Given the description of an element on the screen output the (x, y) to click on. 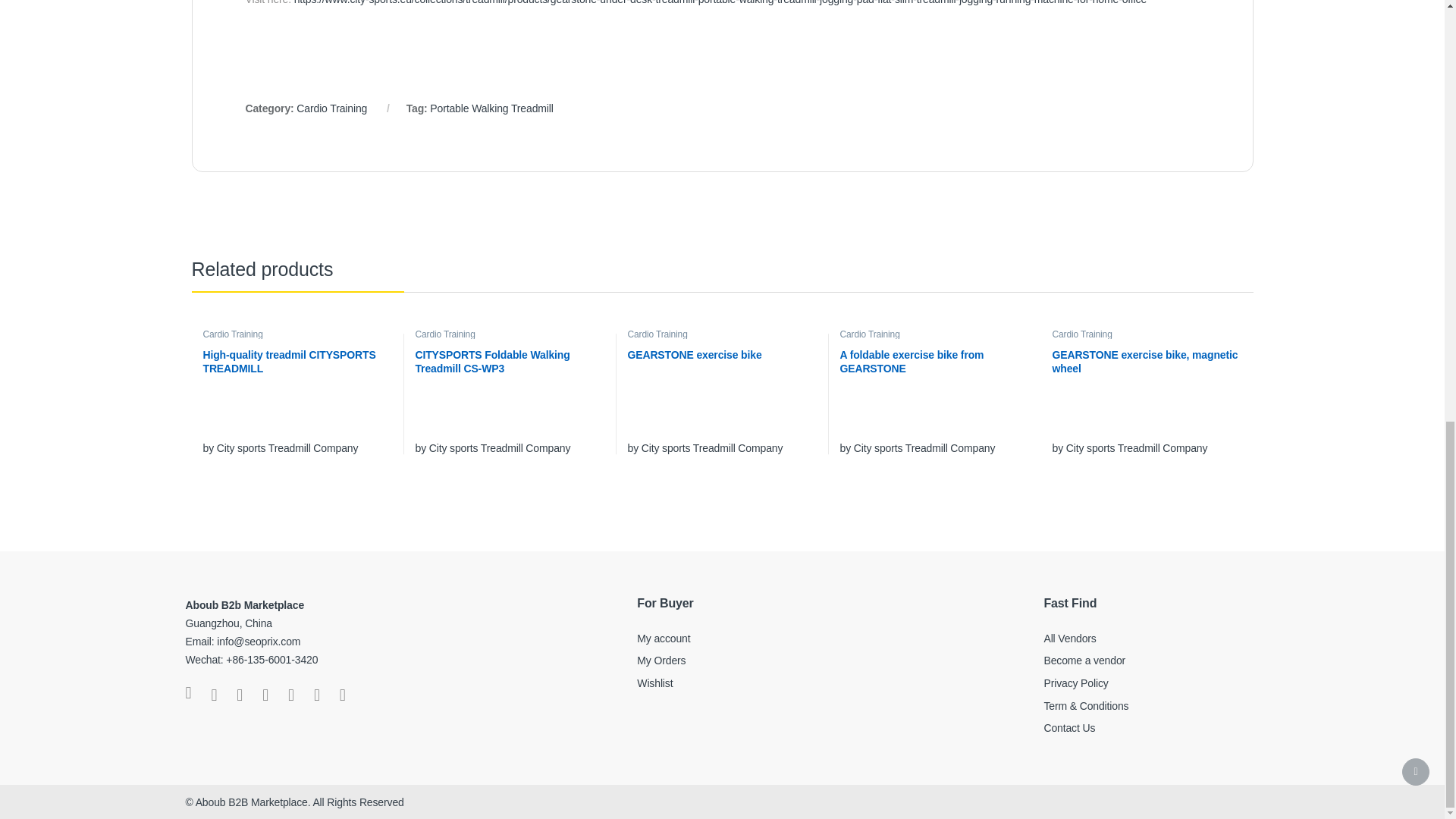
Cardio Training (331, 108)
Portable Walking Treadmill (491, 108)
High-quality treadmil CITYSPORTS TREADMILL (296, 373)
Cardio Training (232, 334)
